Given the description of an element on the screen output the (x, y) to click on. 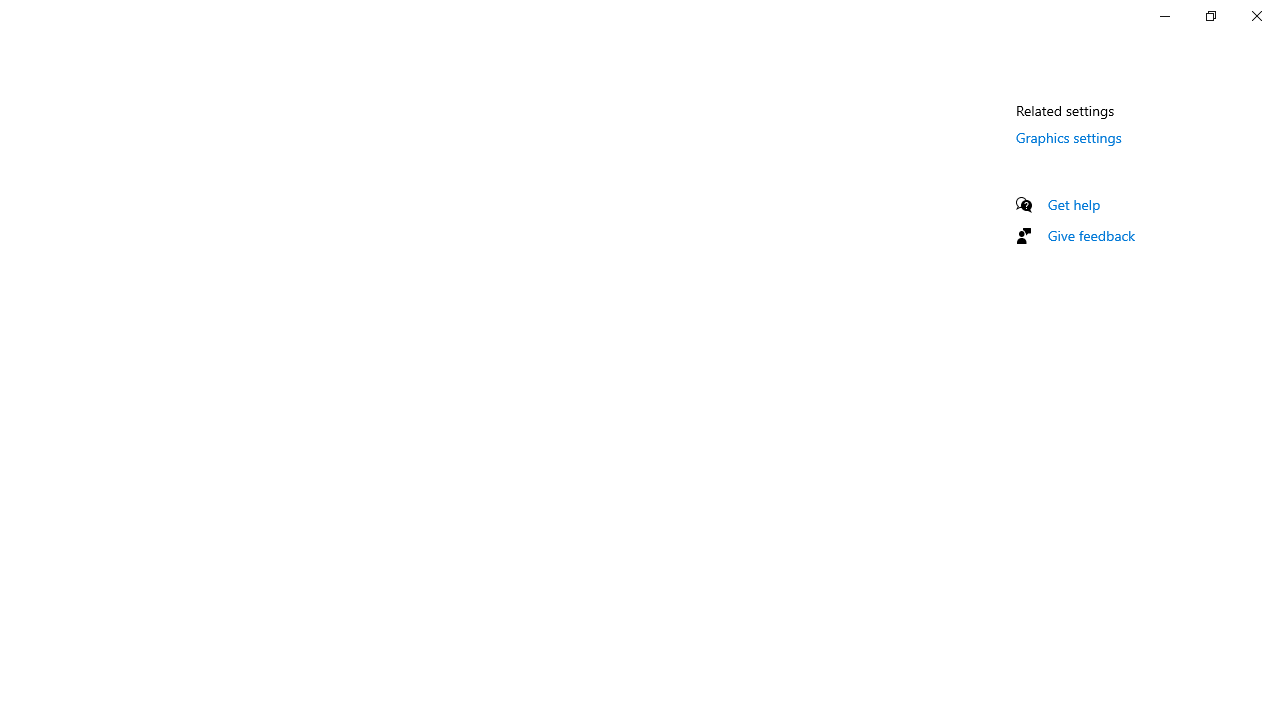
Restore Settings (1210, 15)
Get help (1074, 204)
Give feedback (1091, 235)
Close Settings (1256, 15)
Minimize Settings (1164, 15)
Graphics settings (1069, 137)
